Given the description of an element on the screen output the (x, y) to click on. 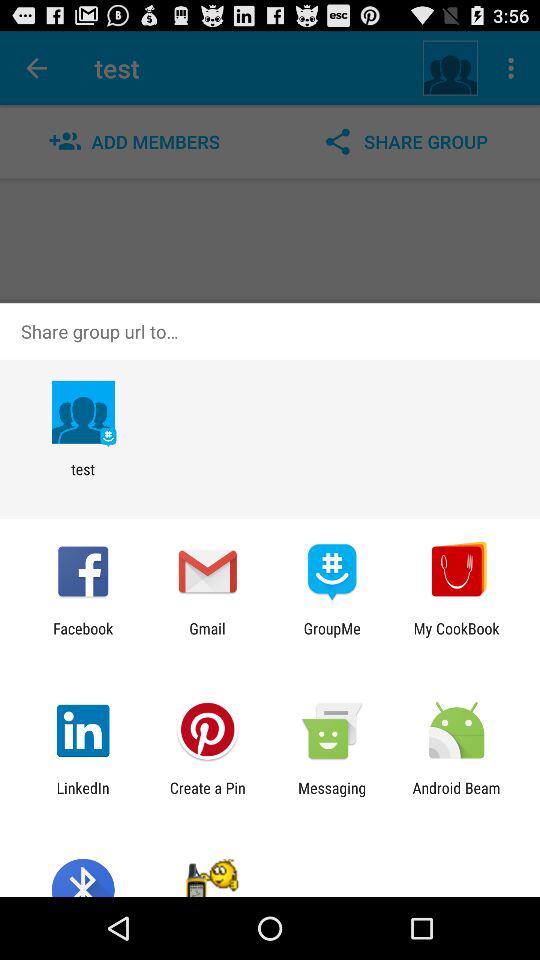
open the facebook app (83, 637)
